Given the description of an element on the screen output the (x, y) to click on. 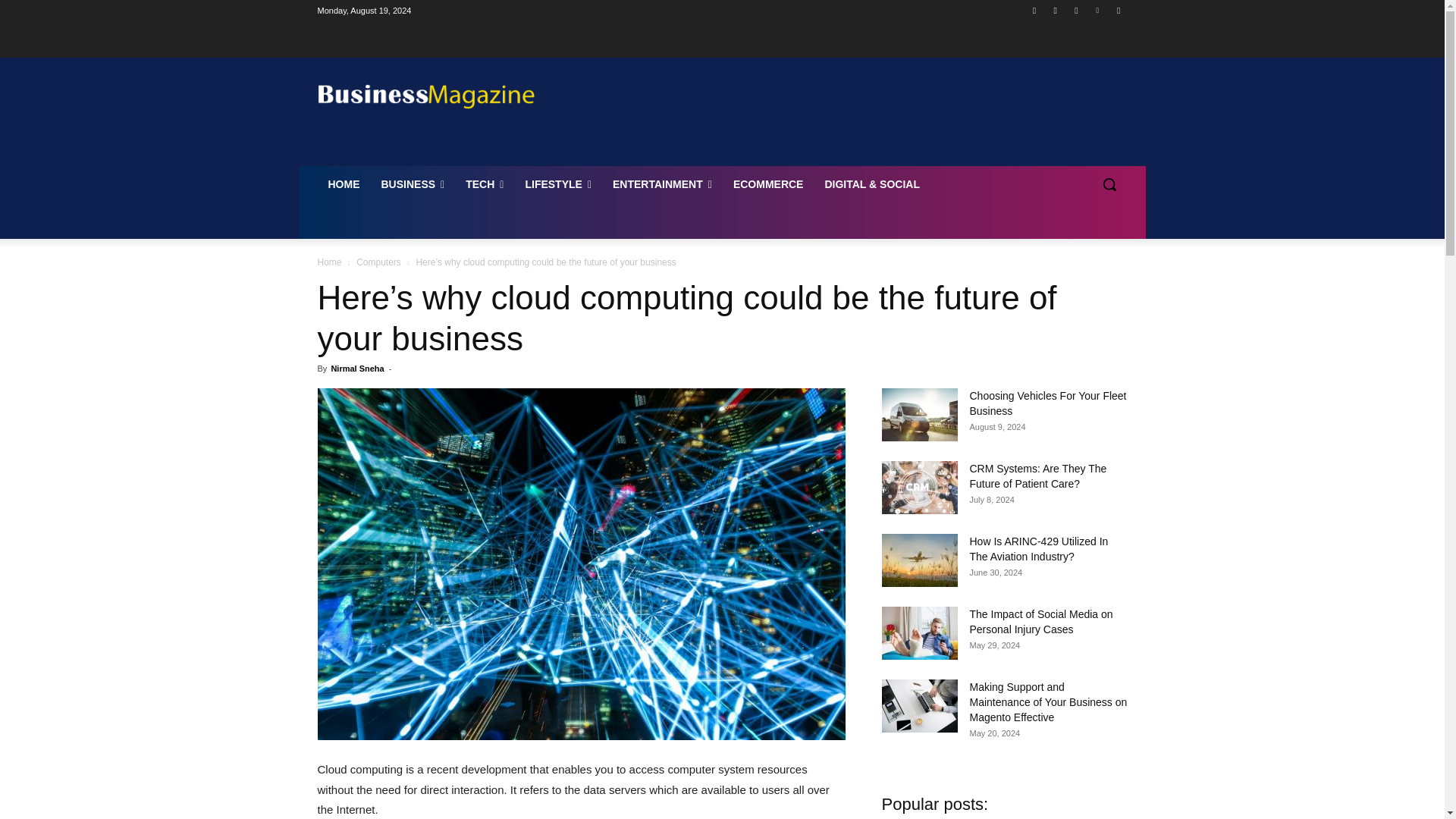
Facebook (1034, 9)
View all posts in Computers (378, 262)
Instagram (1055, 9)
Twitter (1075, 9)
Vimeo (1097, 9)
Youtube (1117, 9)
